Given the description of an element on the screen output the (x, y) to click on. 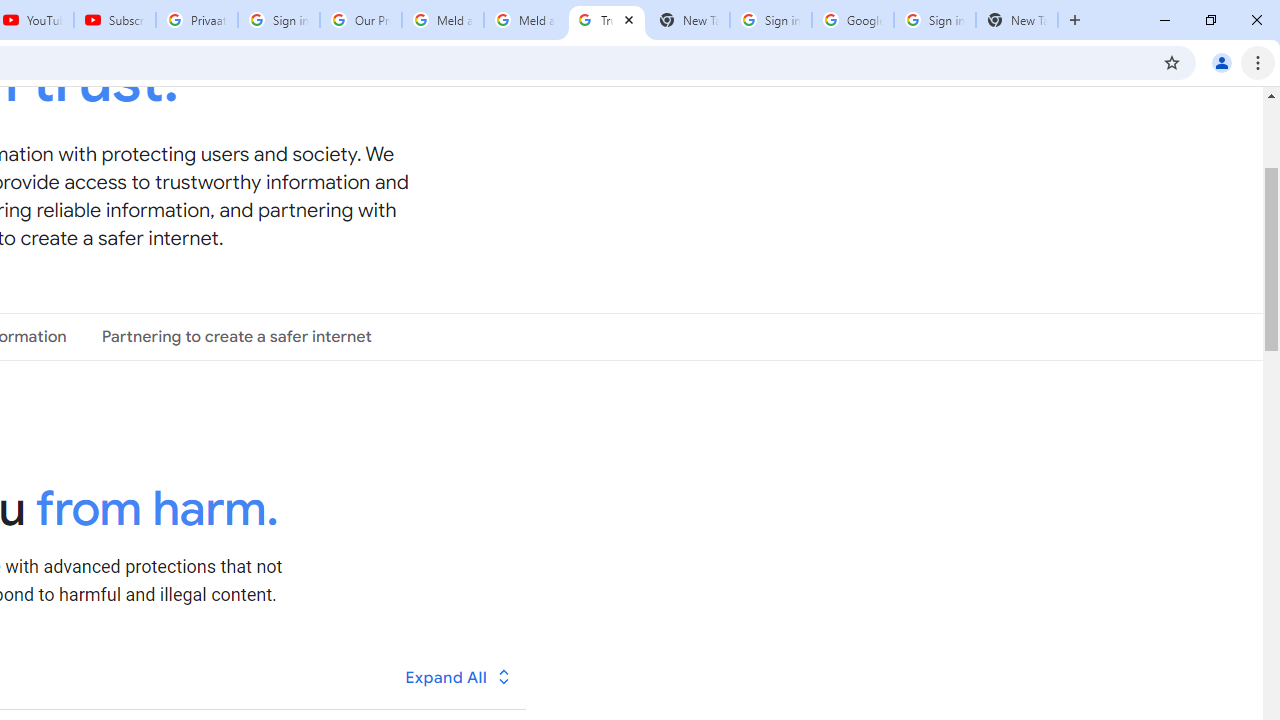
Subscriptions - YouTube (115, 20)
Google Cybersecurity Innovations - Google Safety Center (852, 20)
Partnering to create a safer internet (236, 336)
Expand All (459, 677)
Sign in - Google Accounts (278, 20)
Trusted Information and Content - Google Safety Center (606, 20)
